Given the description of an element on the screen output the (x, y) to click on. 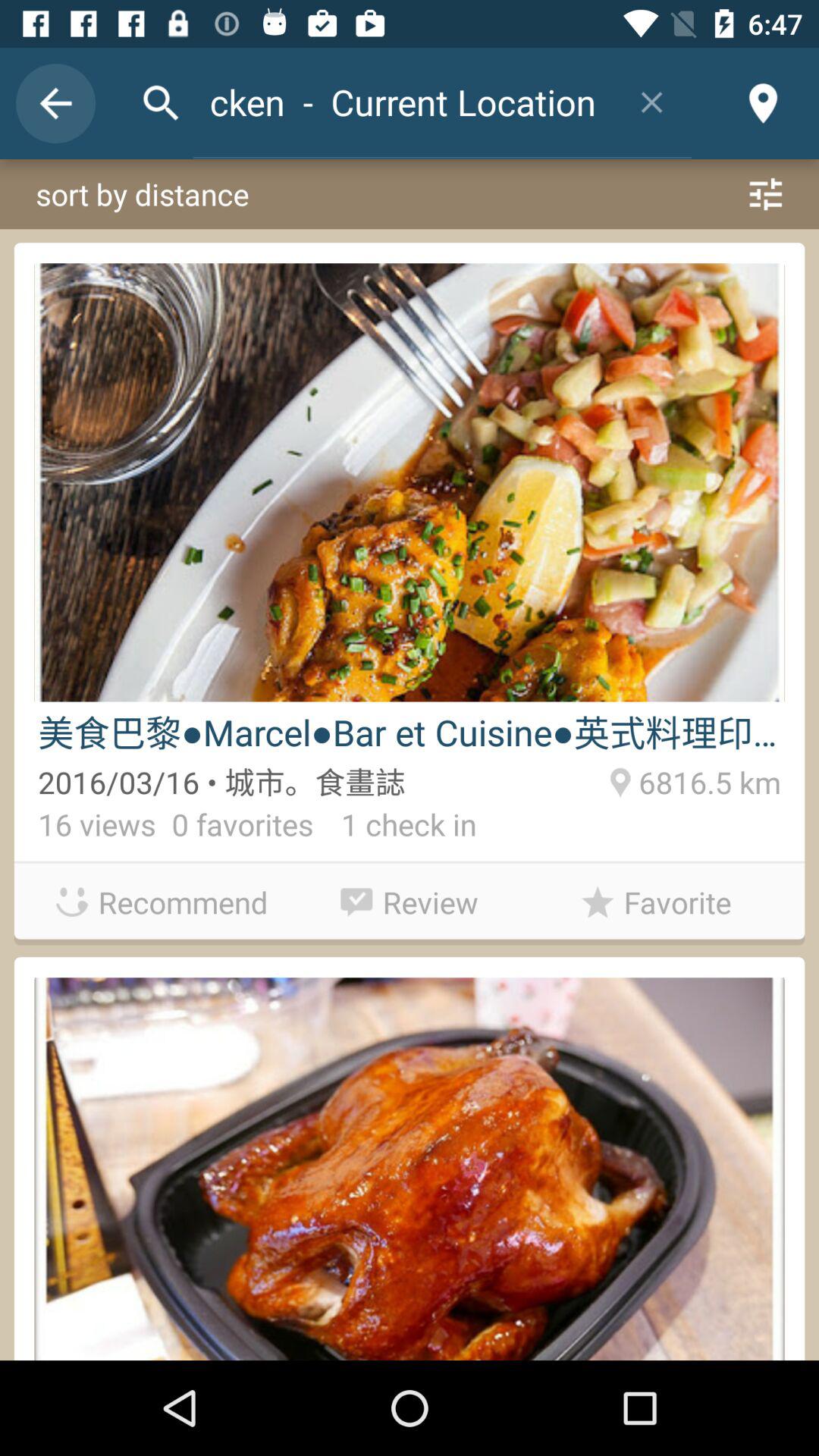
flip to chicken  -  current location (402, 102)
